Given the description of an element on the screen output the (x, y) to click on. 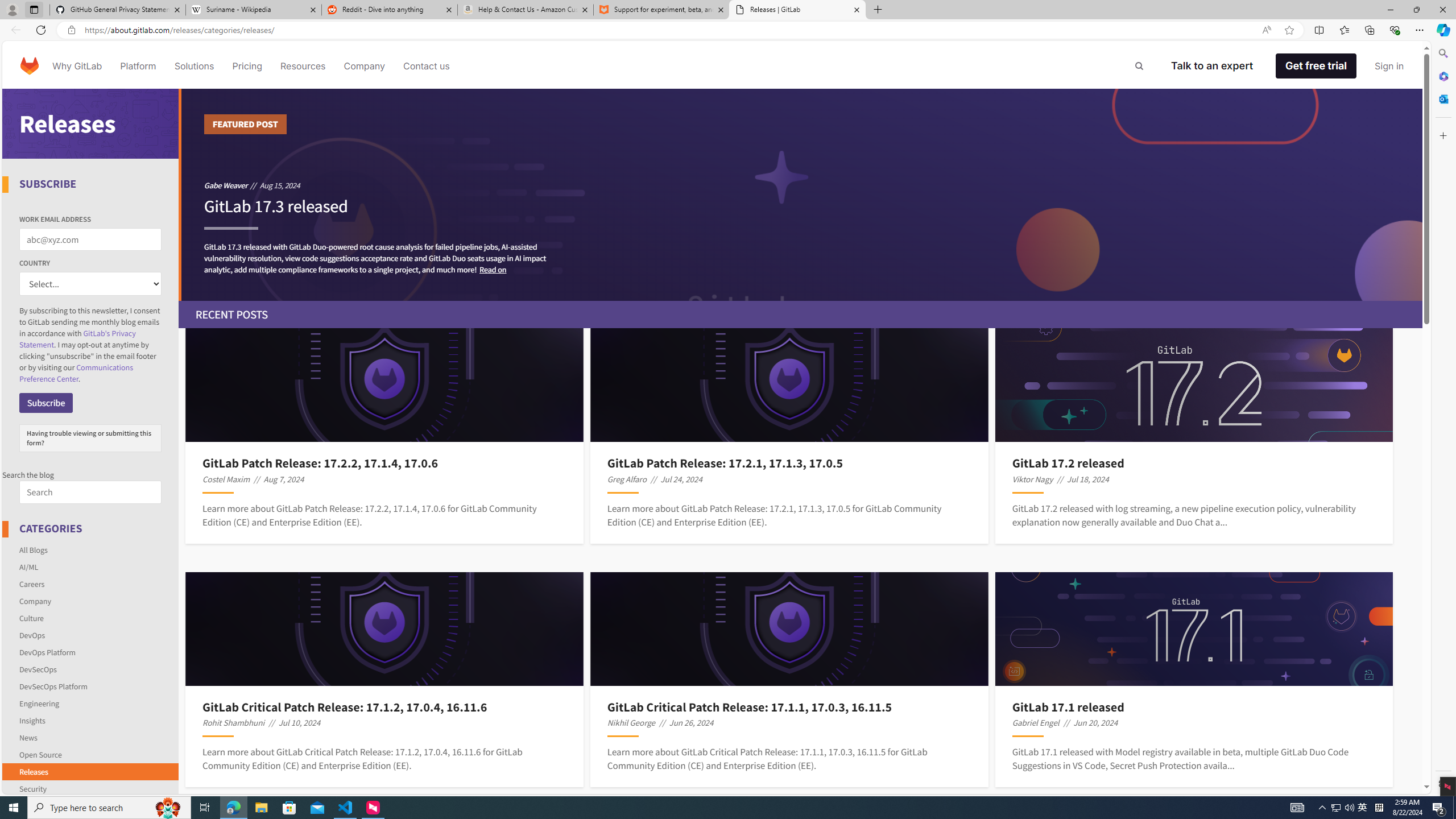
Careers (90, 583)
Releases (33, 771)
Releases (90, 771)
Talk to an expert (1211, 65)
DevSecOps Platform (52, 685)
Engineering (38, 703)
Solutions (193, 65)
Costel Maxim (226, 478)
Pricing (246, 65)
GitLab Critical Patch Release: 17.1.1, 17.0.3, 16.11.5 (789, 706)
